Given the description of an element on the screen output the (x, y) to click on. 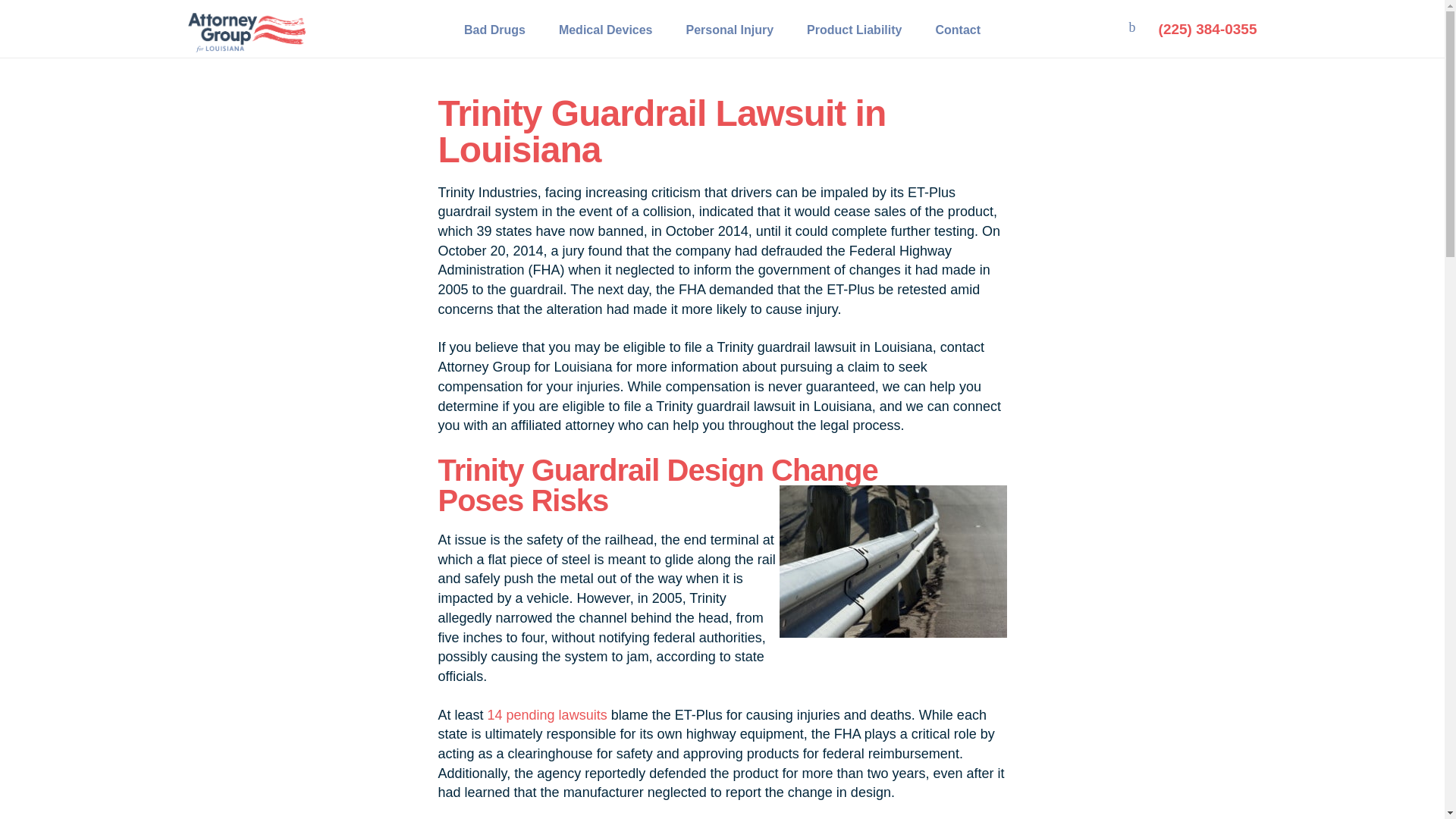
14 pending lawsuits (547, 714)
Bad Drugs (493, 28)
Louisiana Product Liability Attorney (570, 18)
Lawsuits (457, 18)
Product Liability (854, 28)
Medical Devices (605, 28)
Medical Devices (605, 28)
Bad Drugs (493, 28)
Attorney Group for Louisiana (357, 18)
Personal Injury (729, 28)
Contact (957, 28)
Personal Injury (729, 28)
